Given the description of an element on the screen output the (x, y) to click on. 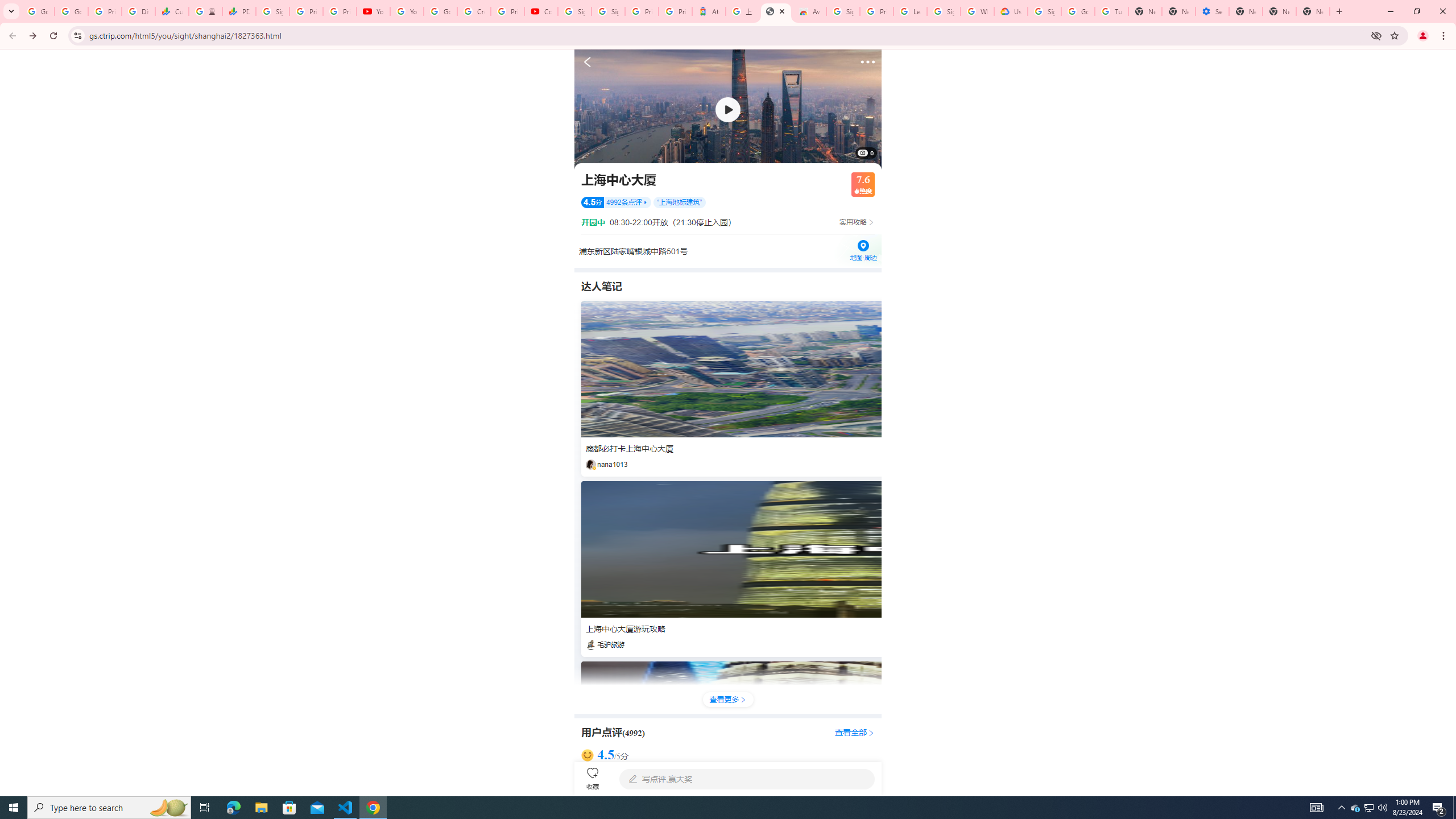
Who are Google's partners? - Privacy and conditions - Google (976, 11)
Turn cookies on or off - Computer - Google Account Help (1111, 11)
Settings - Addresses and more (1212, 11)
Awesome Screen Recorder & Screenshot - Chrome Web Store (809, 11)
PDD Holdings Inc - ADR (PDD) Price & News - Google Finance (238, 11)
